Given the description of an element on the screen output the (x, y) to click on. 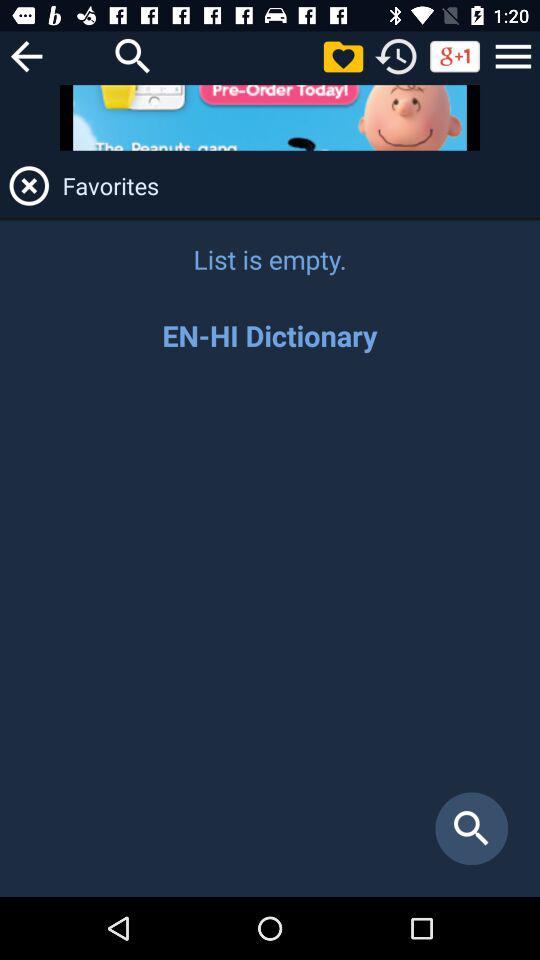
go back (26, 56)
